Given the description of an element on the screen output the (x, y) to click on. 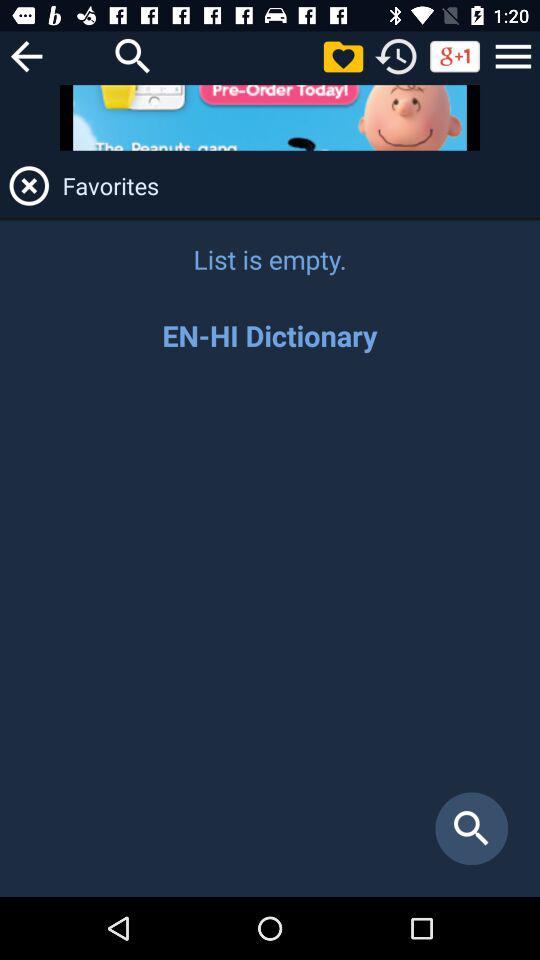
go back (26, 56)
